Given the description of an element on the screen output the (x, y) to click on. 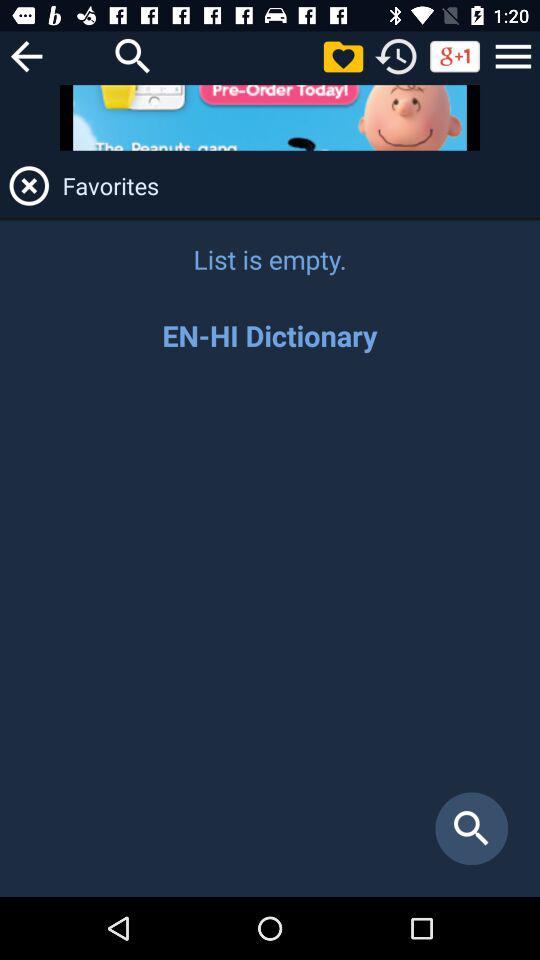
go back (26, 56)
